Given the description of an element on the screen output the (x, y) to click on. 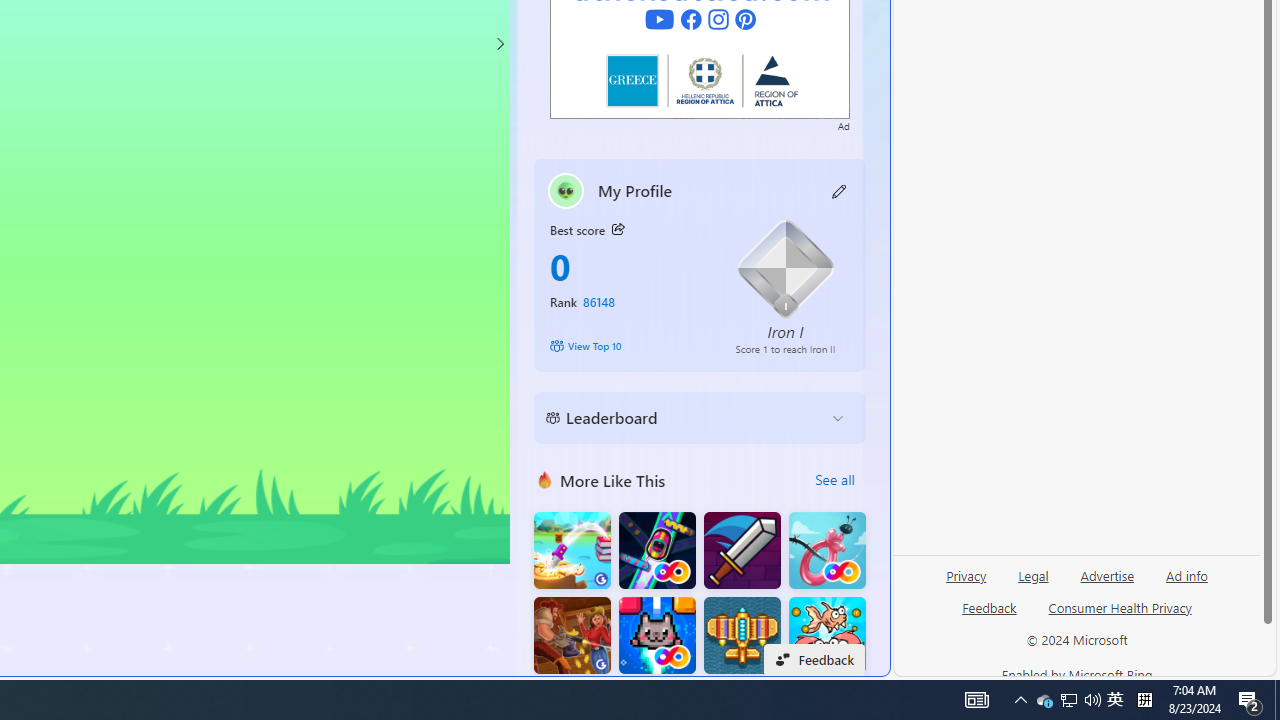
Class: control (499, 43)
Balloon FRVR (827, 550)
Class: button (617, 229)
See all (834, 479)
Atlantic Sky Hunter (742, 635)
Class: button edit-icon (839, 190)
More Like This (544, 479)
